Given the description of an element on the screen output the (x, y) to click on. 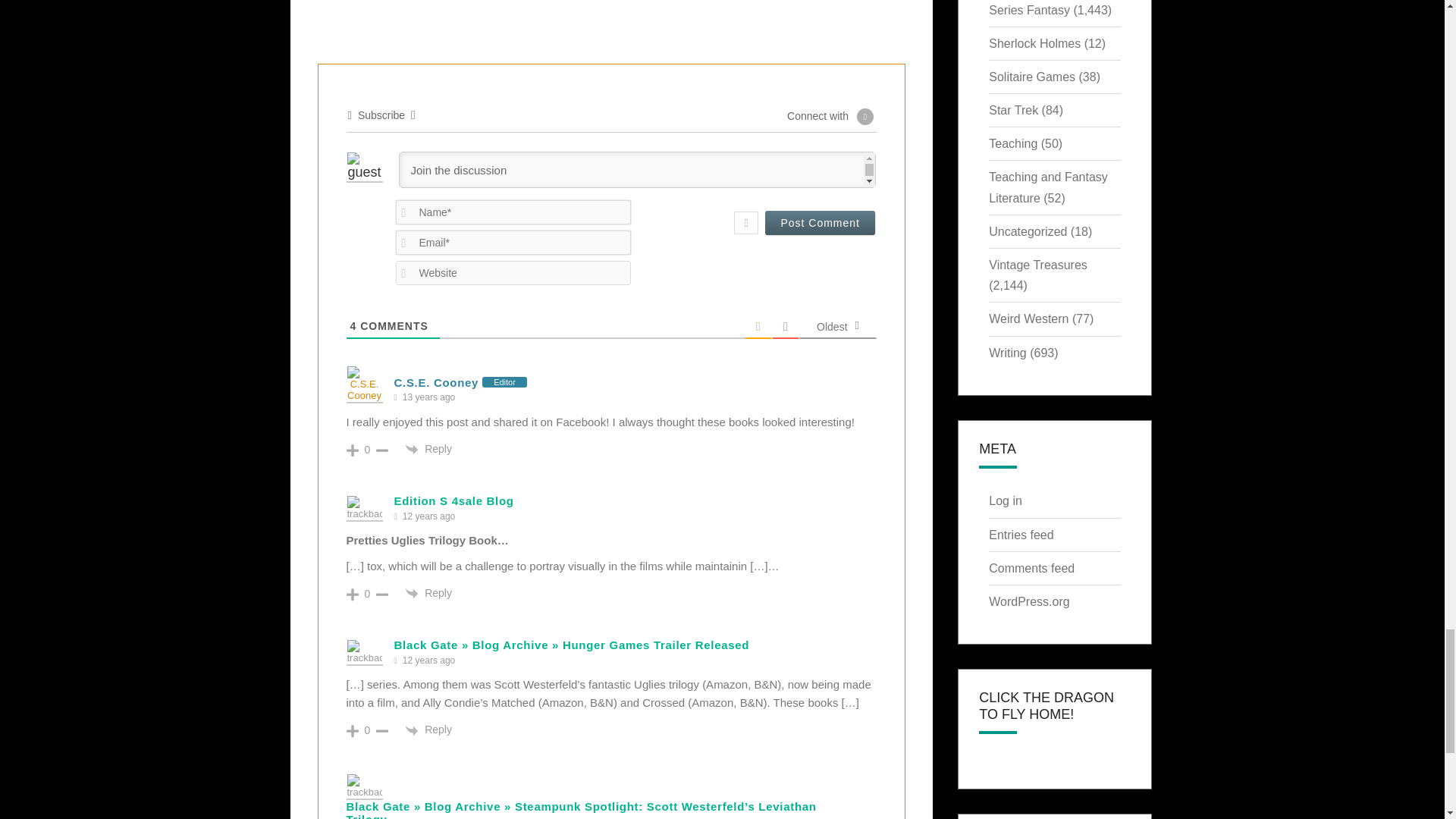
Post Comment (820, 222)
0 (366, 593)
Tuesday, July 26, 2011 9:19 pm (428, 397)
Post Comment (820, 222)
C.S.E. Cooney (436, 382)
Edition S 4sale Blog (453, 500)
0 (366, 449)
Wednesday, August 17, 2011 11:54 pm (428, 516)
